Given the description of an element on the screen output the (x, y) to click on. 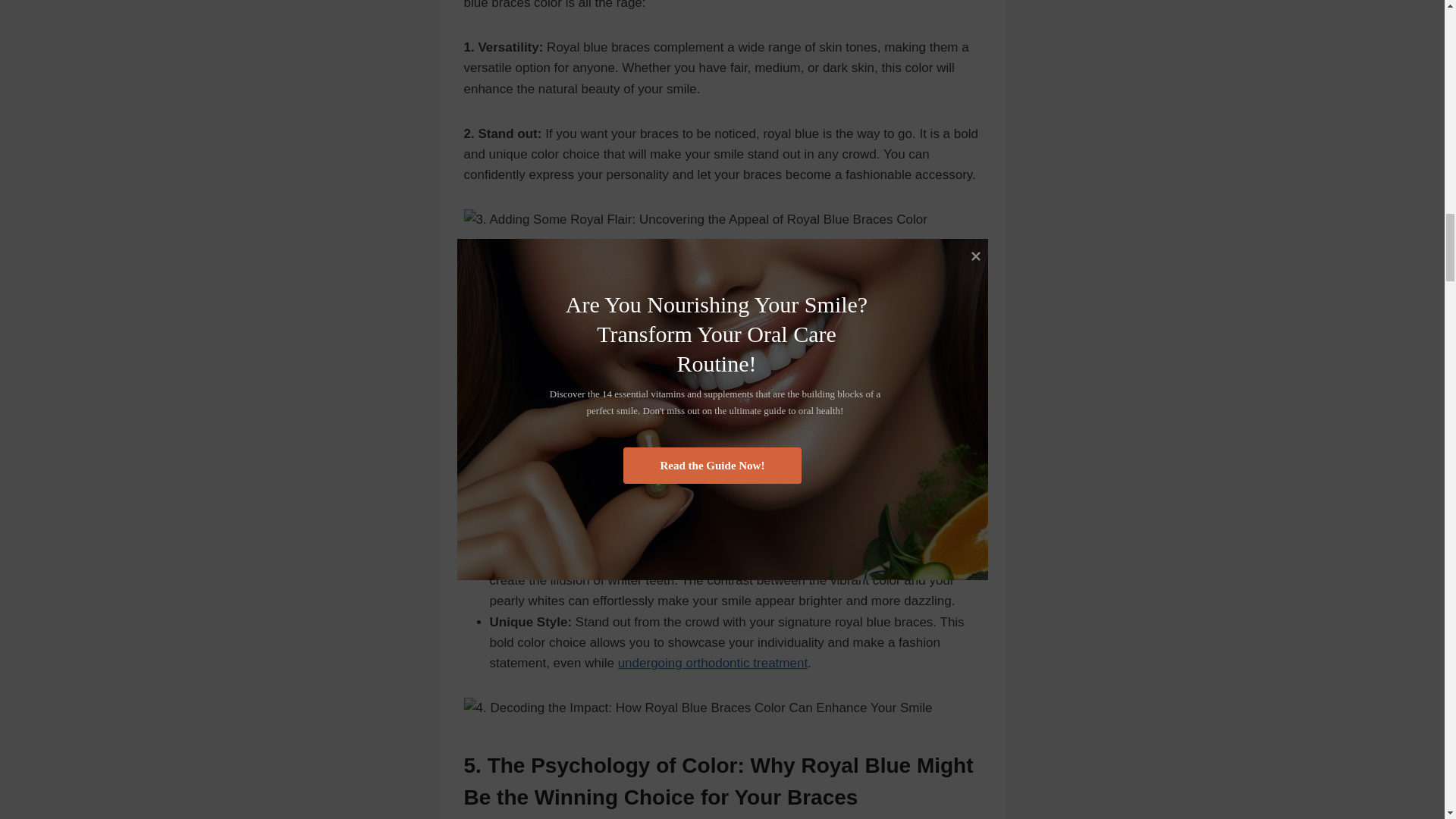
undergoing orthodontic treatment (712, 663)
